Given the description of an element on the screen output the (x, y) to click on. 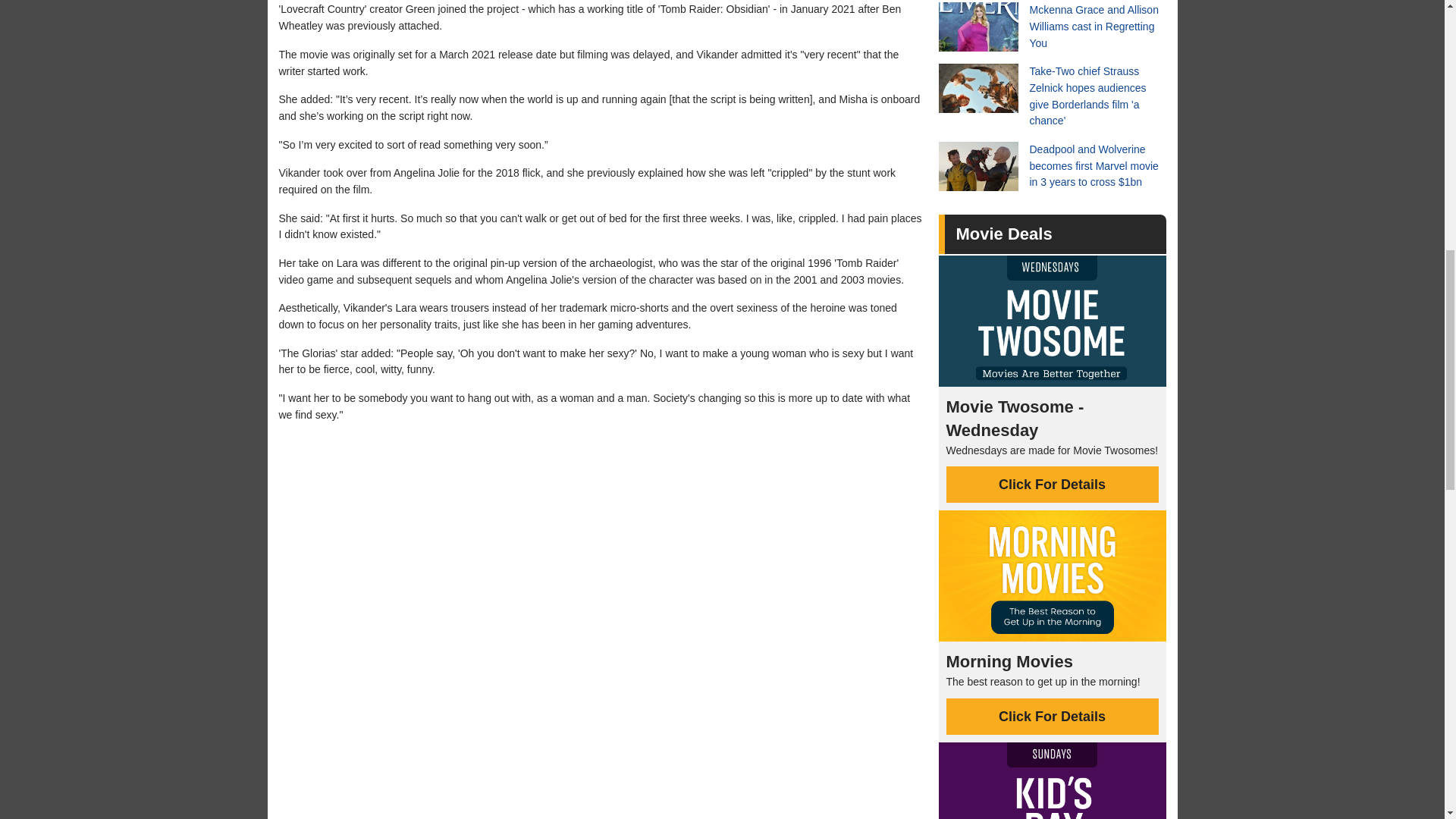
Movie Deals (1003, 233)
Mckenna Grace and Allison Williams cast in Regretting You (1052, 26)
Click For Details (1052, 716)
Click For Details (1052, 484)
